Given the description of an element on the screen output the (x, y) to click on. 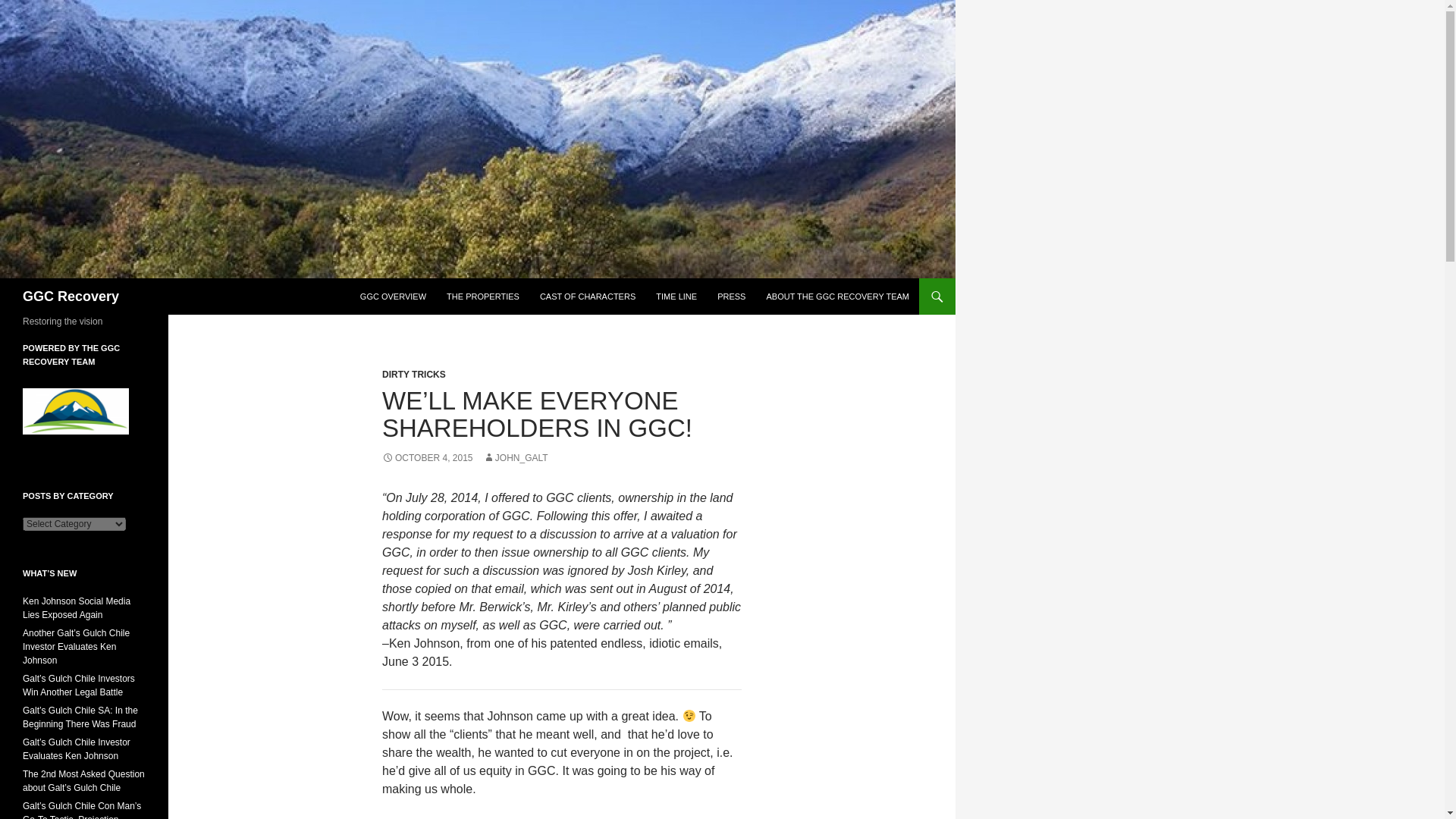
THE PROPERTIES (483, 296)
DIRTY TRICKS (413, 374)
TIME LINE (676, 296)
GGC Recovery (71, 296)
CAST OF CHARACTERS (588, 296)
PRESS (730, 296)
GGC OVERVIEW (392, 296)
ABOUT THE GGC RECOVERY TEAM (837, 296)
Ken Johnson Social Media Lies Exposed Again (77, 607)
OCTOBER 4, 2015 (427, 457)
